Given the description of an element on the screen output the (x, y) to click on. 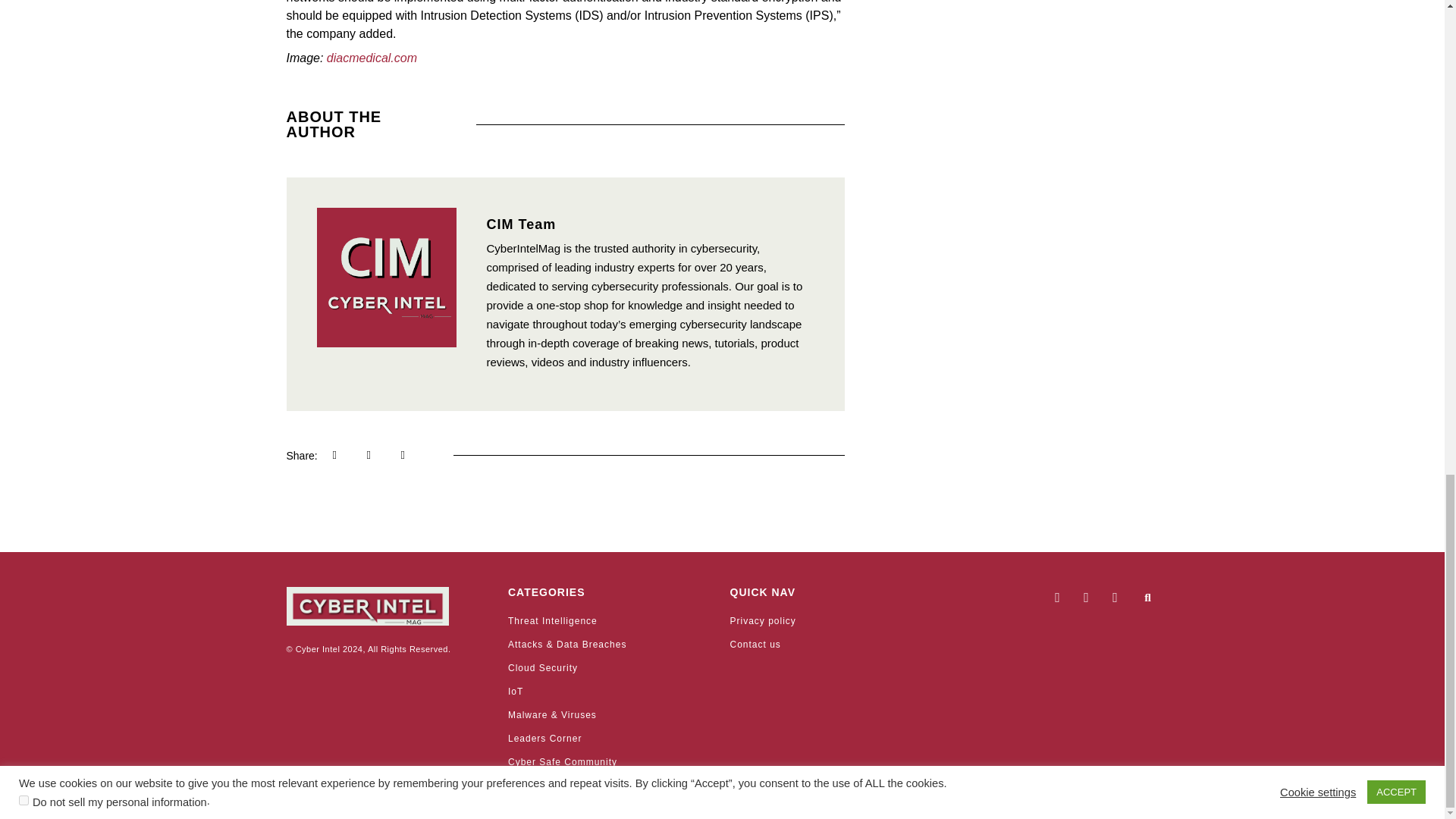
diacmedical.com (371, 57)
Leaders Corner (611, 738)
Cloud Security (611, 667)
IoT (611, 691)
Threat Intelligence (611, 620)
